Given the description of an element on the screen output the (x, y) to click on. 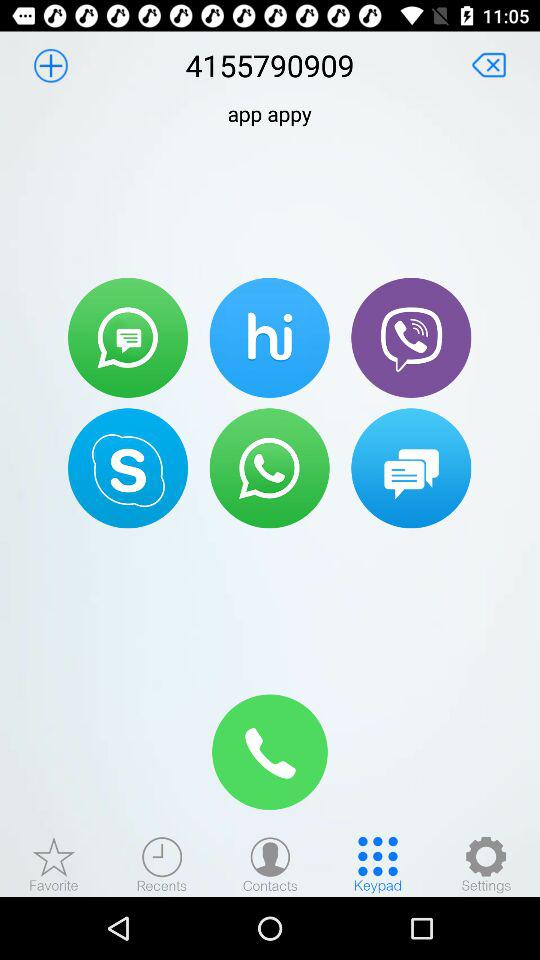
message button (411, 468)
